Given the description of an element on the screen output the (x, y) to click on. 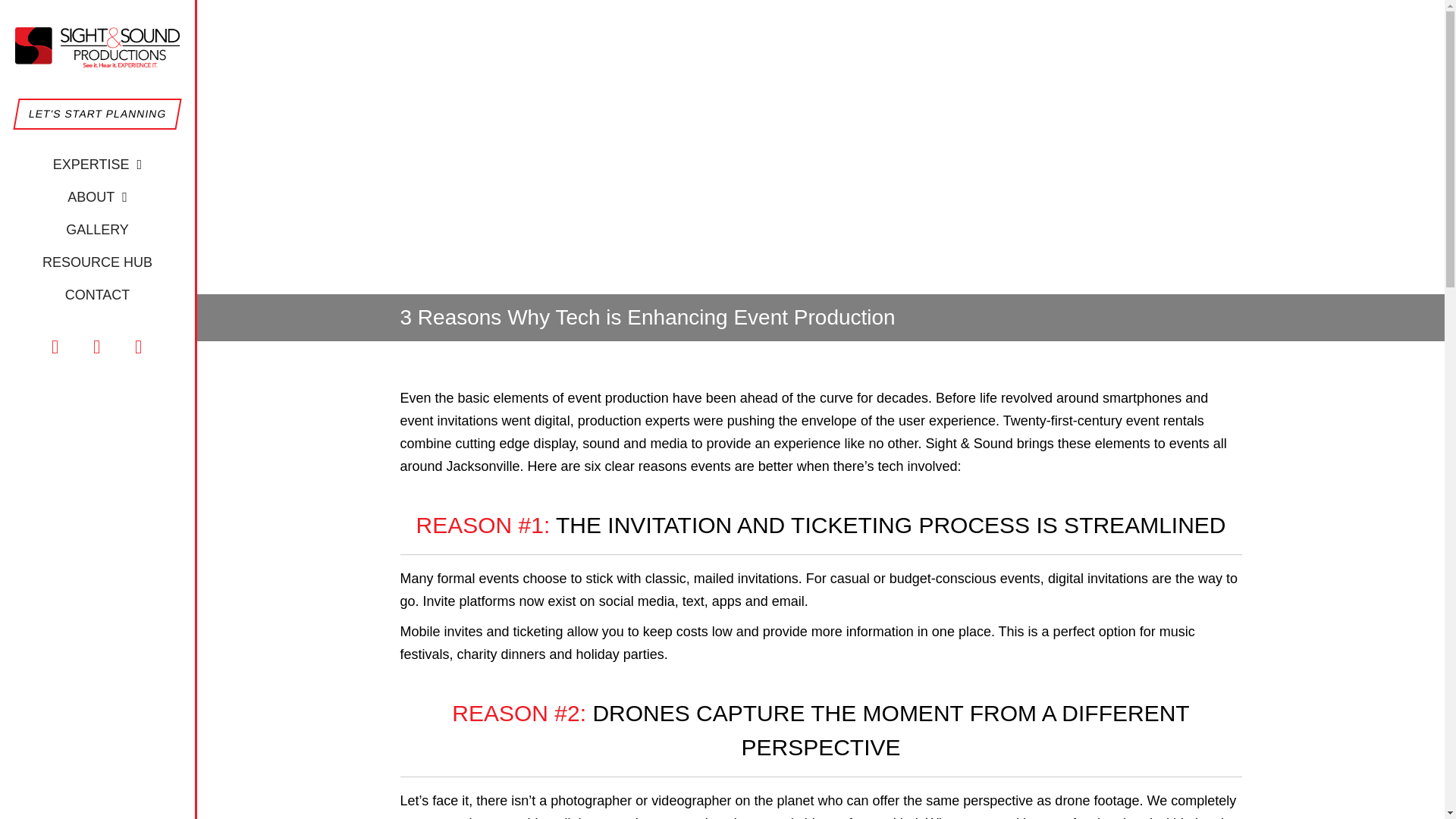
LET'S START PLANNING (94, 113)
GALLERY (97, 229)
ABOUT (97, 196)
EXPERTISE (96, 164)
FACEBOOK (55, 347)
INSTAGRAM (97, 347)
RESOURCE HUB (97, 262)
CONTACT (98, 295)
LINKEDIN (138, 347)
